Given the description of an element on the screen output the (x, y) to click on. 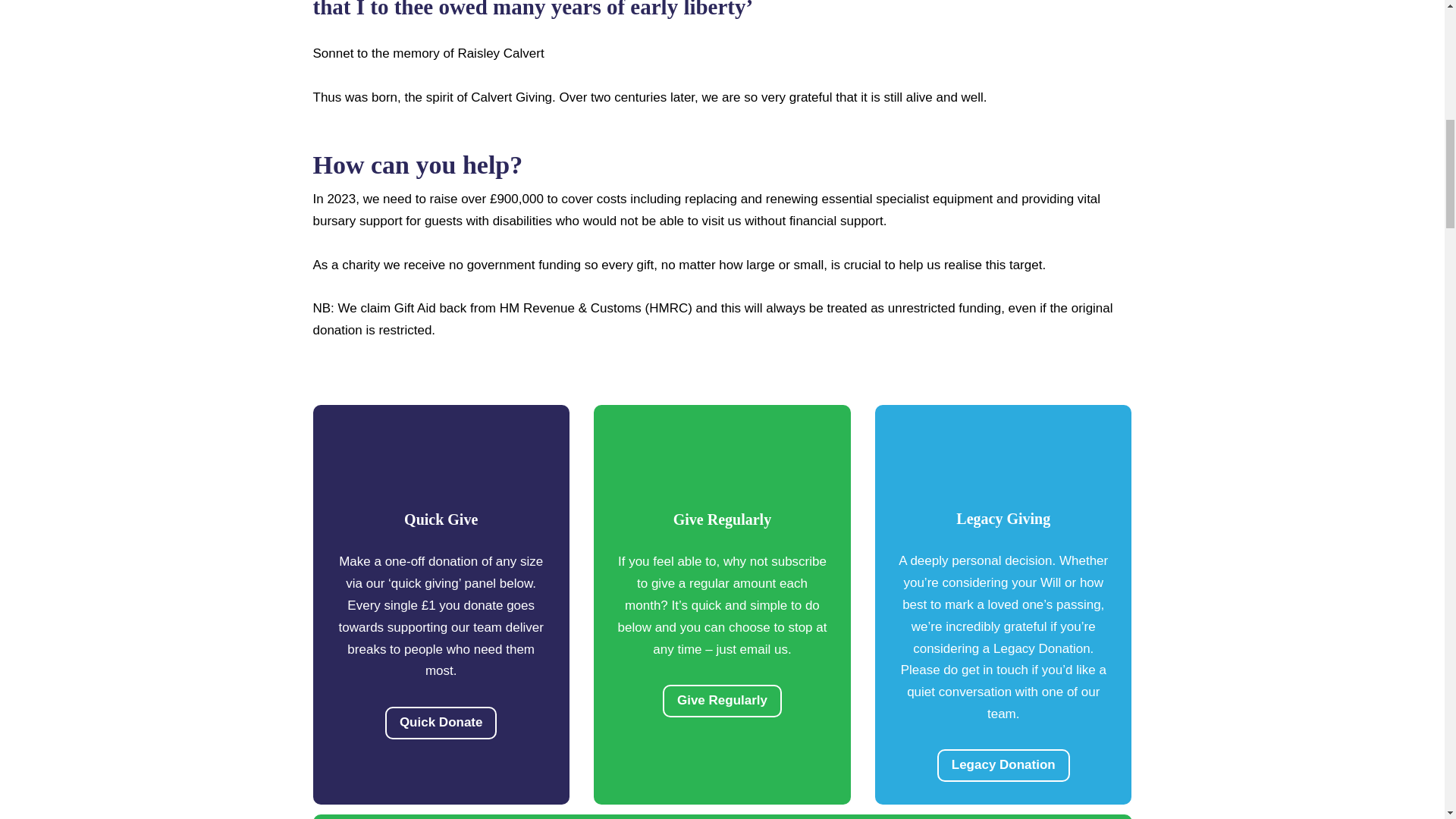
Legacy Donation (1003, 765)
Give Regularly (721, 700)
Quick Donate (441, 722)
email us (763, 649)
